Given the description of an element on the screen output the (x, y) to click on. 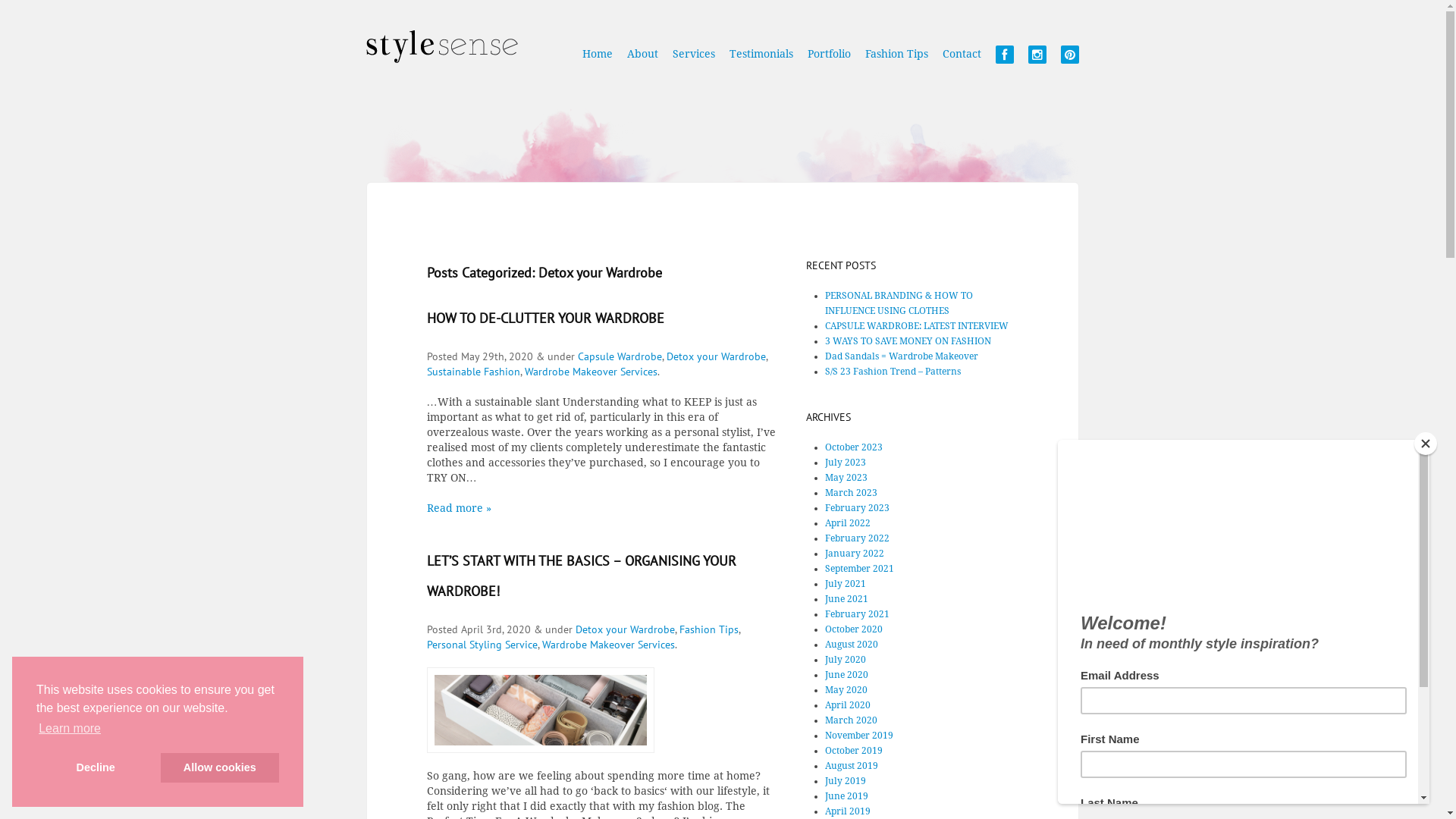
Allow cookies Element type: text (219, 767)
Instagram Element type: text (1037, 61)
Contact Element type: text (960, 61)
October 2019 Element type: text (853, 750)
PERSONAL BRANDING & HOW TO INFLUENCE USING CLOTHES Element type: text (898, 303)
March 2023 Element type: text (851, 492)
June 2019 Element type: text (846, 795)
February 2021 Element type: text (857, 613)
July 2021 Element type: text (845, 583)
Services Element type: text (692, 61)
April 2022 Element type: text (847, 522)
October 2023 Element type: text (853, 447)
Fashion Tips Element type: text (708, 629)
Capsule Wardrobe Element type: text (619, 356)
Wardrobe Makeover Services Element type: text (590, 371)
February 2022 Element type: text (857, 538)
Fb Element type: text (1003, 61)
July 2019 Element type: text (845, 780)
Decline Element type: text (95, 767)
Fashion Tips Element type: text (895, 61)
May 2020 Element type: text (846, 689)
July 2020 Element type: text (845, 659)
August 2019 Element type: text (851, 765)
September 2021 Element type: text (859, 568)
April 2020 Element type: text (847, 704)
CAPSULE WARDROBE: LATEST INTERVIEW Element type: text (916, 325)
Dad Sandals = Wardrobe Makeover Element type: text (901, 356)
January 2022 Element type: text (854, 553)
May 2023 Element type: text (846, 477)
Sustainable Fashion Element type: text (472, 371)
June 2020 Element type: text (846, 674)
November 2019 Element type: text (859, 735)
Portfolio Element type: text (828, 61)
3 WAYS TO SAVE MONEY ON FASHION Element type: text (908, 340)
Testimonials Element type: text (761, 61)
Learn more Element type: text (69, 728)
Detox your Wardrobe Element type: text (715, 356)
About Element type: text (641, 61)
March 2020 Element type: text (851, 720)
August 2020 Element type: text (851, 644)
July 2023 Element type: text (845, 462)
April 2019 Element type: text (847, 811)
Pinterest Element type: text (1069, 61)
Home Element type: text (597, 61)
June 2021 Element type: text (846, 598)
October 2020 Element type: text (853, 629)
Detox your Wardrobe Element type: text (624, 629)
February 2023 Element type: text (857, 507)
HOW TO DE-CLUTTER YOUR WARDROBE Element type: text (544, 317)
Personal Styling Service Element type: text (481, 644)
Wardrobe Makeover Services Element type: text (607, 644)
